Given the description of an element on the screen output the (x, y) to click on. 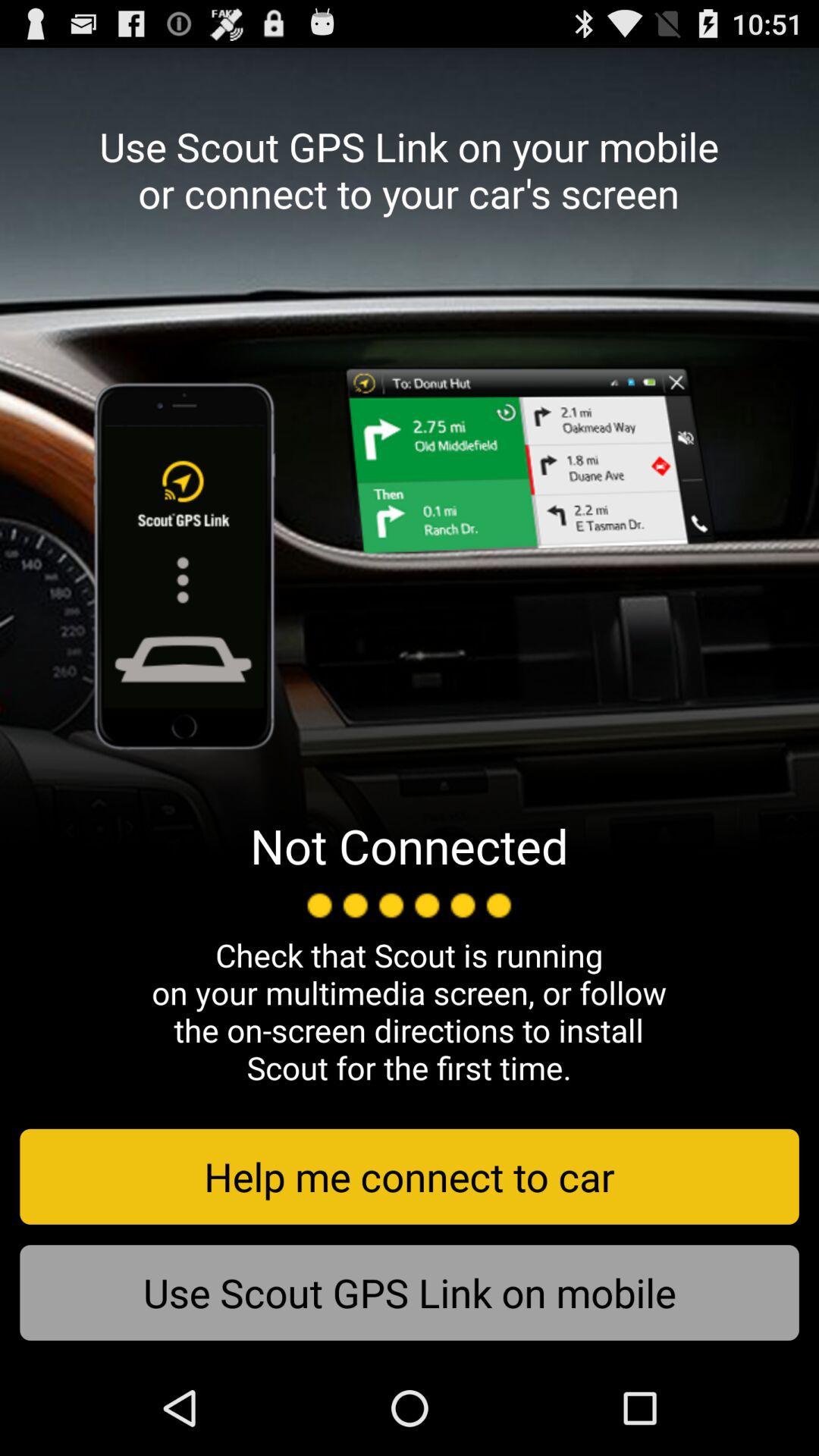
press the icon above use scout gps icon (409, 1176)
